Given the description of an element on the screen output the (x, y) to click on. 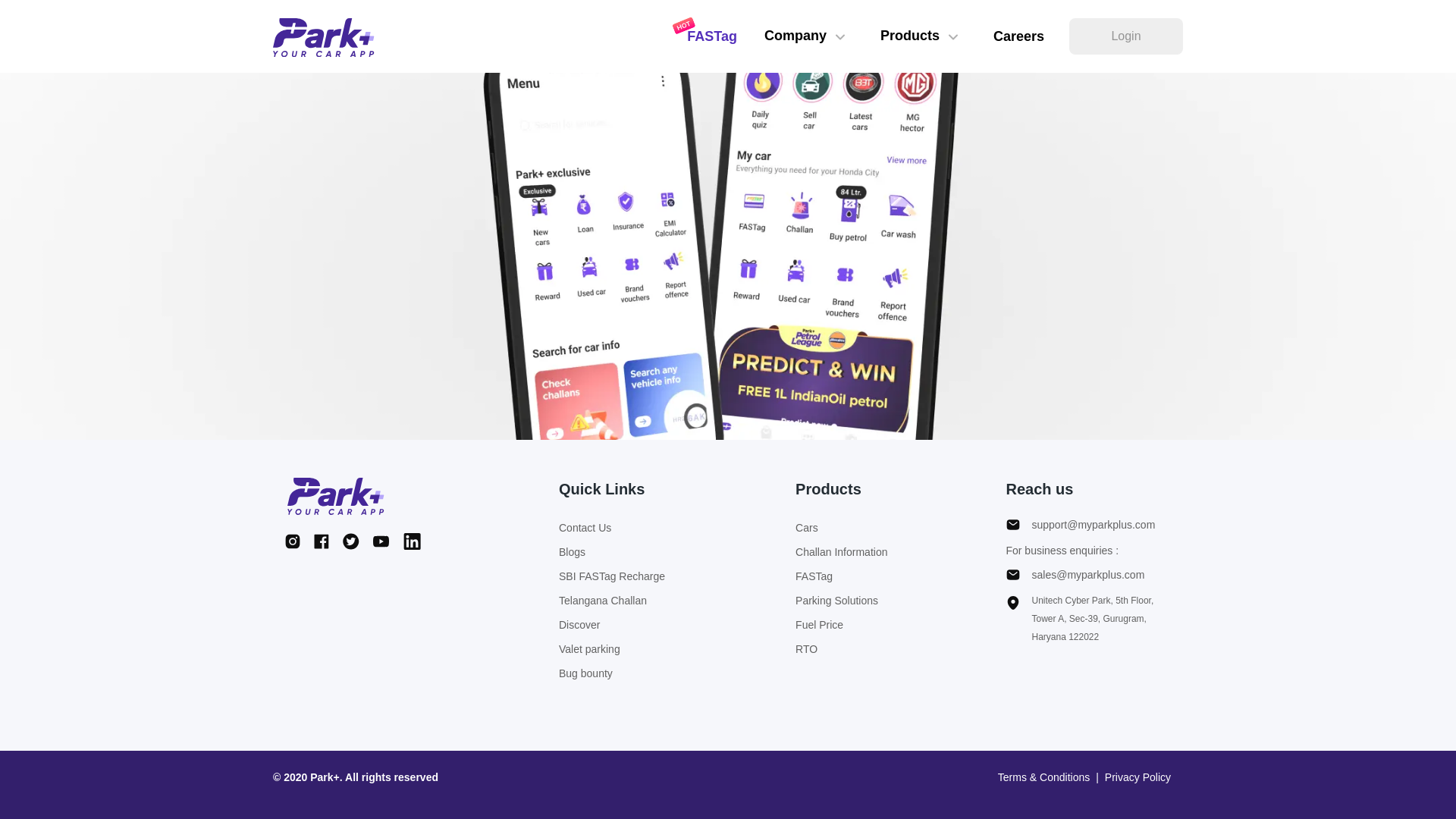
Contact Us (612, 527)
Blogs (612, 551)
SBI FASTag Recharge (612, 576)
Telangana Challan (612, 600)
Discover (612, 624)
